Given the description of an element on the screen output the (x, y) to click on. 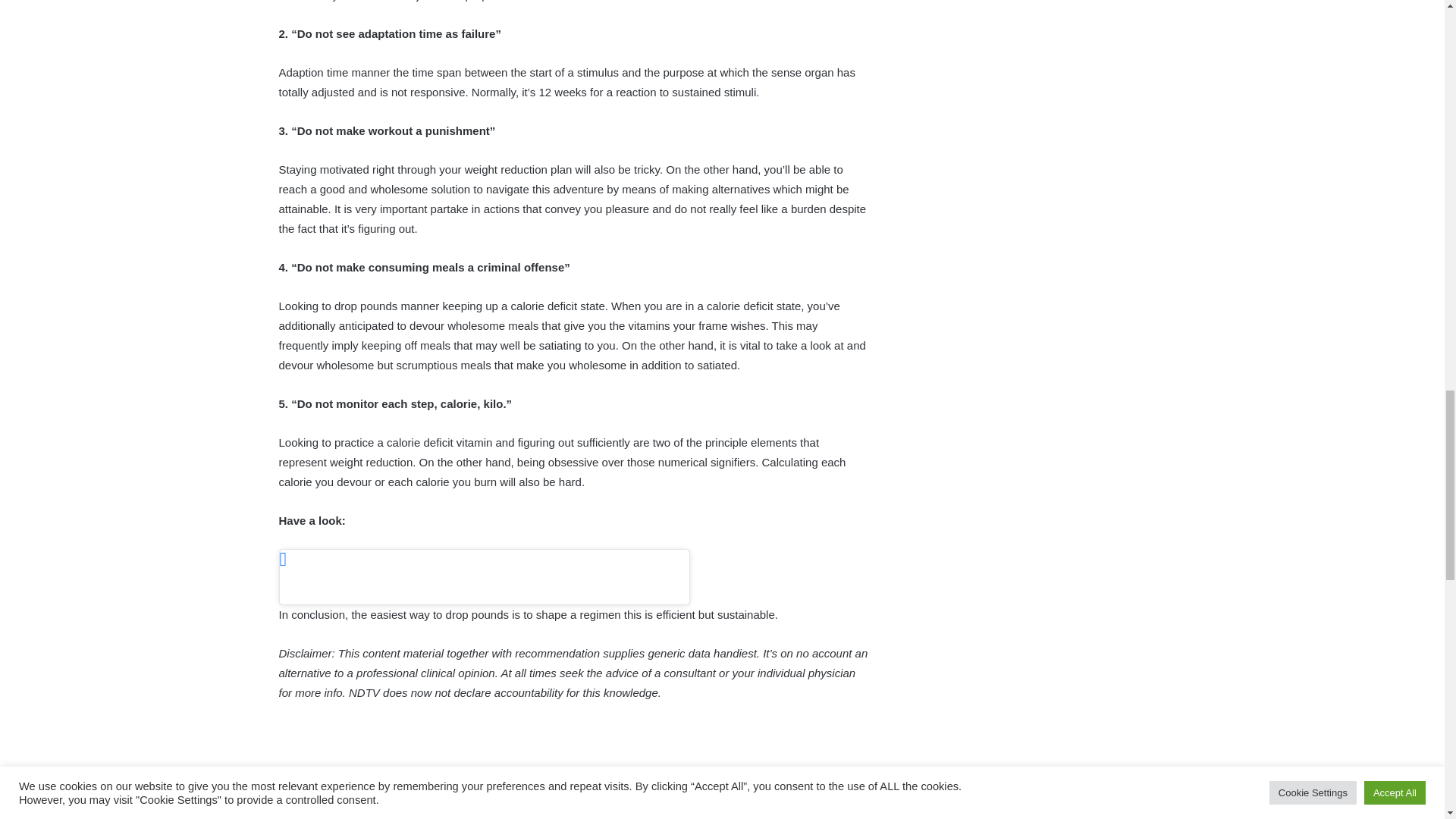
Diwekar (343, 801)
loss (568, 801)
journey (497, 801)
mind (632, 801)
Donts (421, 801)
Nutritionist (716, 801)
Rujuta (805, 801)
